Given the description of an element on the screen output the (x, y) to click on. 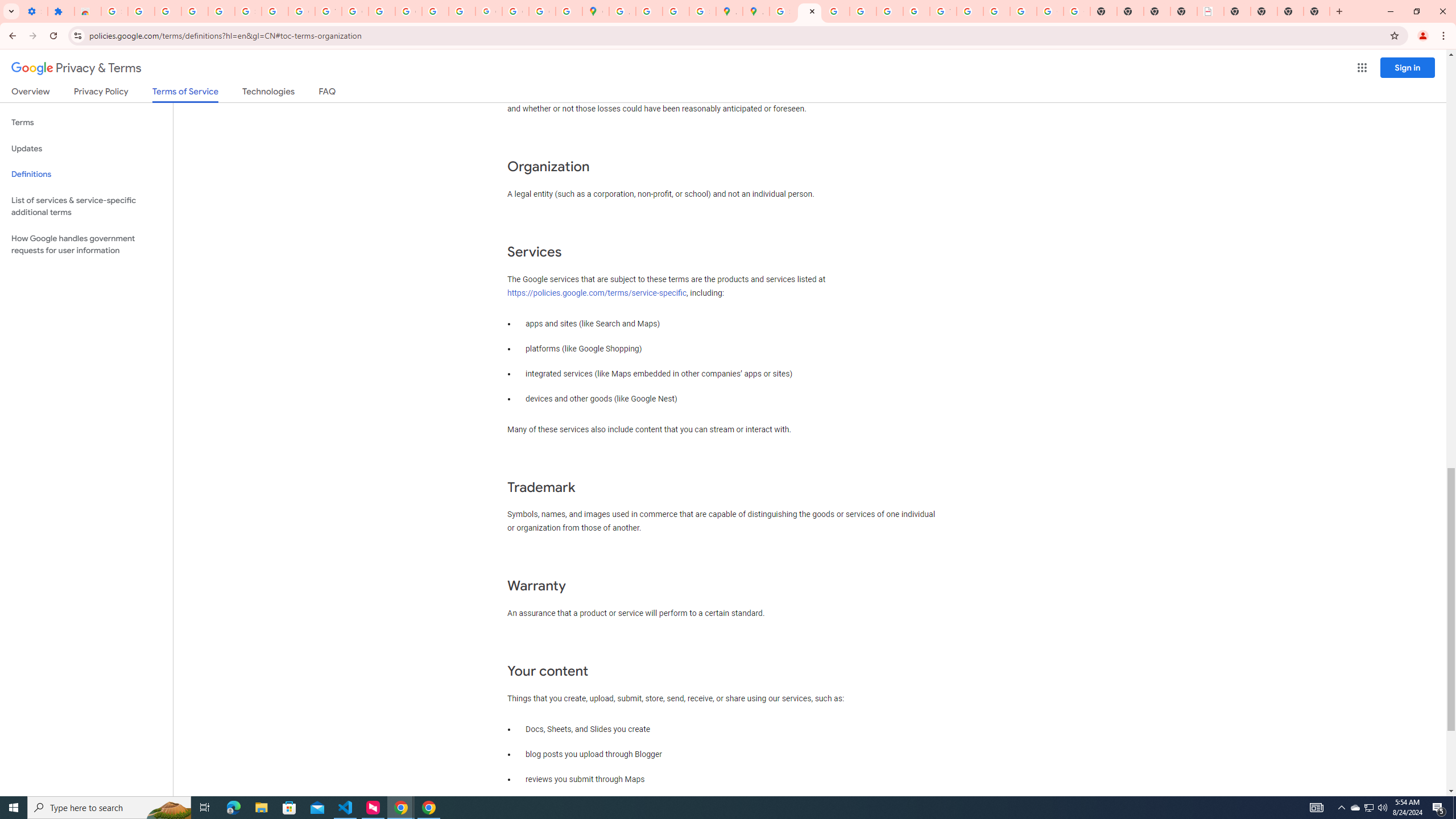
https://policies.google.com/terms/service-specific (596, 292)
FAQ (327, 93)
Google apps (1362, 67)
How Google handles government requests for user information (86, 244)
Extensions (61, 11)
List of services & service-specific additional terms (86, 206)
